Given the description of an element on the screen output the (x, y) to click on. 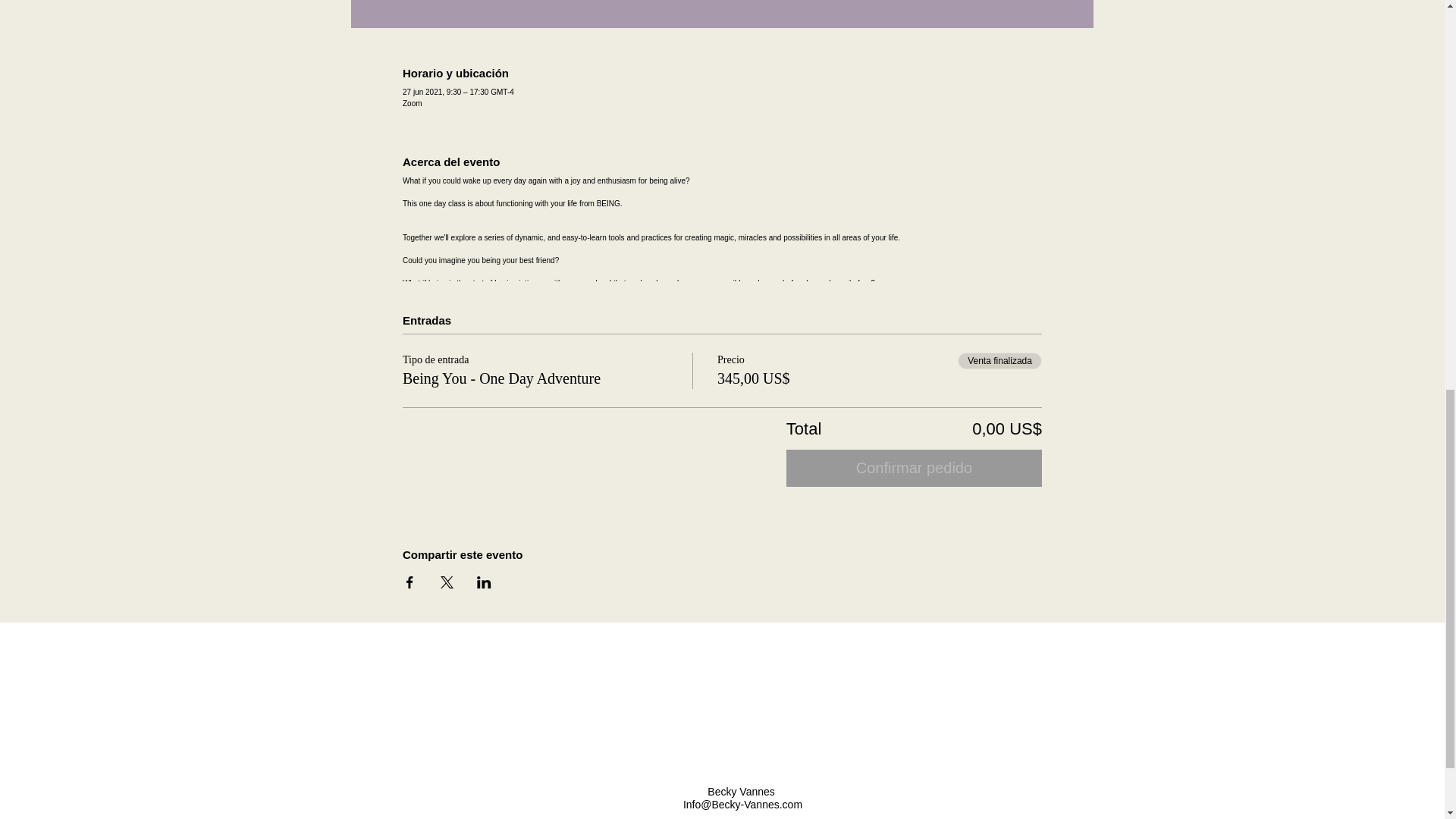
Confirmar pedido (914, 467)
